Given the description of an element on the screen output the (x, y) to click on. 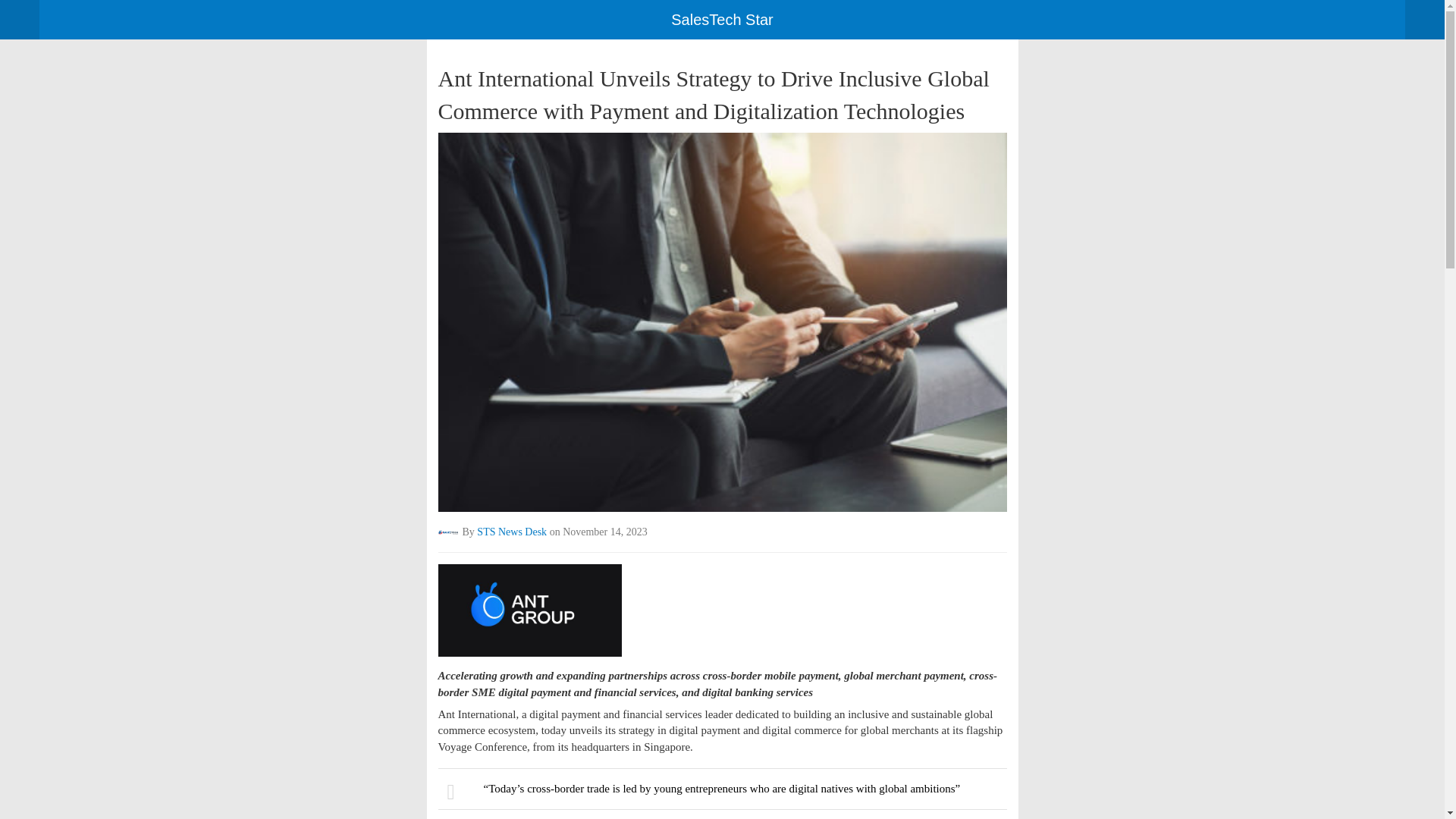
STS News Desk (512, 532)
